Given the description of an element on the screen output the (x, y) to click on. 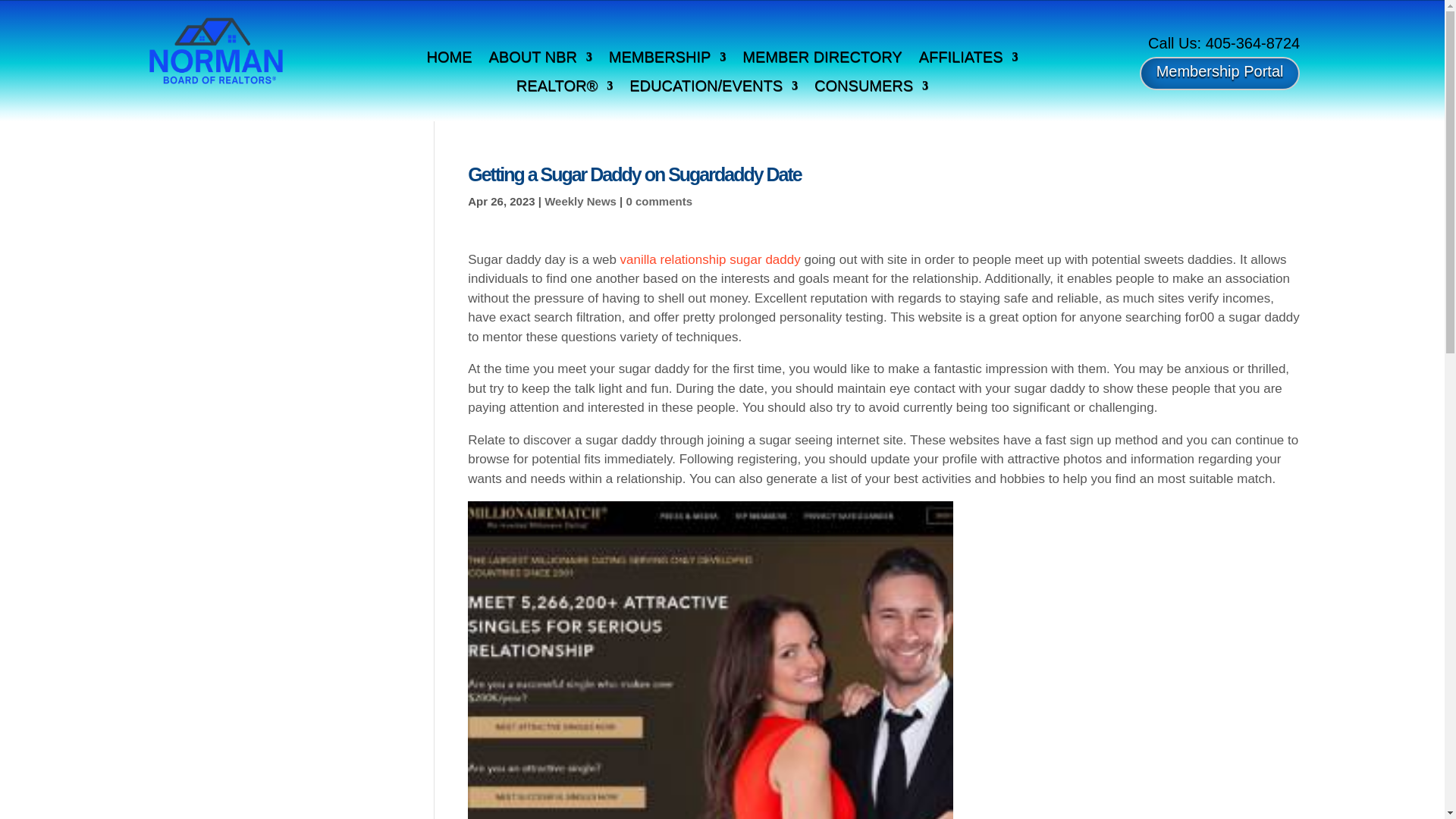
ABOUT NBR (539, 59)
NBR LOGO 22 (215, 50)
MEMBER DIRECTORY (821, 59)
CONSUMERS (870, 87)
MEMBERSHIP (666, 59)
AFFILIATES (967, 59)
HOME (448, 59)
